Given the description of an element on the screen output the (x, y) to click on. 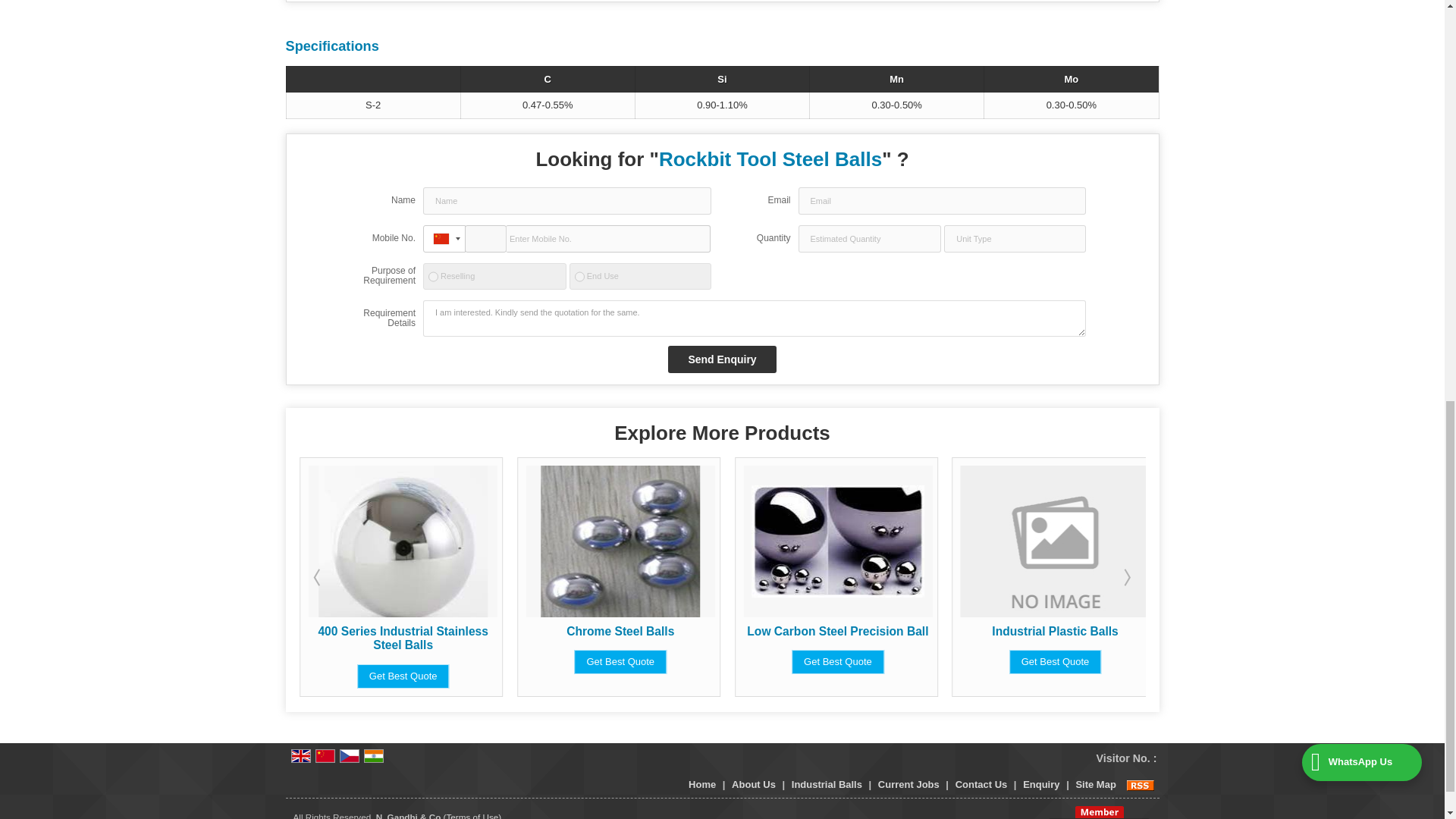
Send Enquiry (722, 359)
Send Enquiry (722, 359)
Reselling (433, 276)
End Use (580, 276)
